Given the description of an element on the screen output the (x, y) to click on. 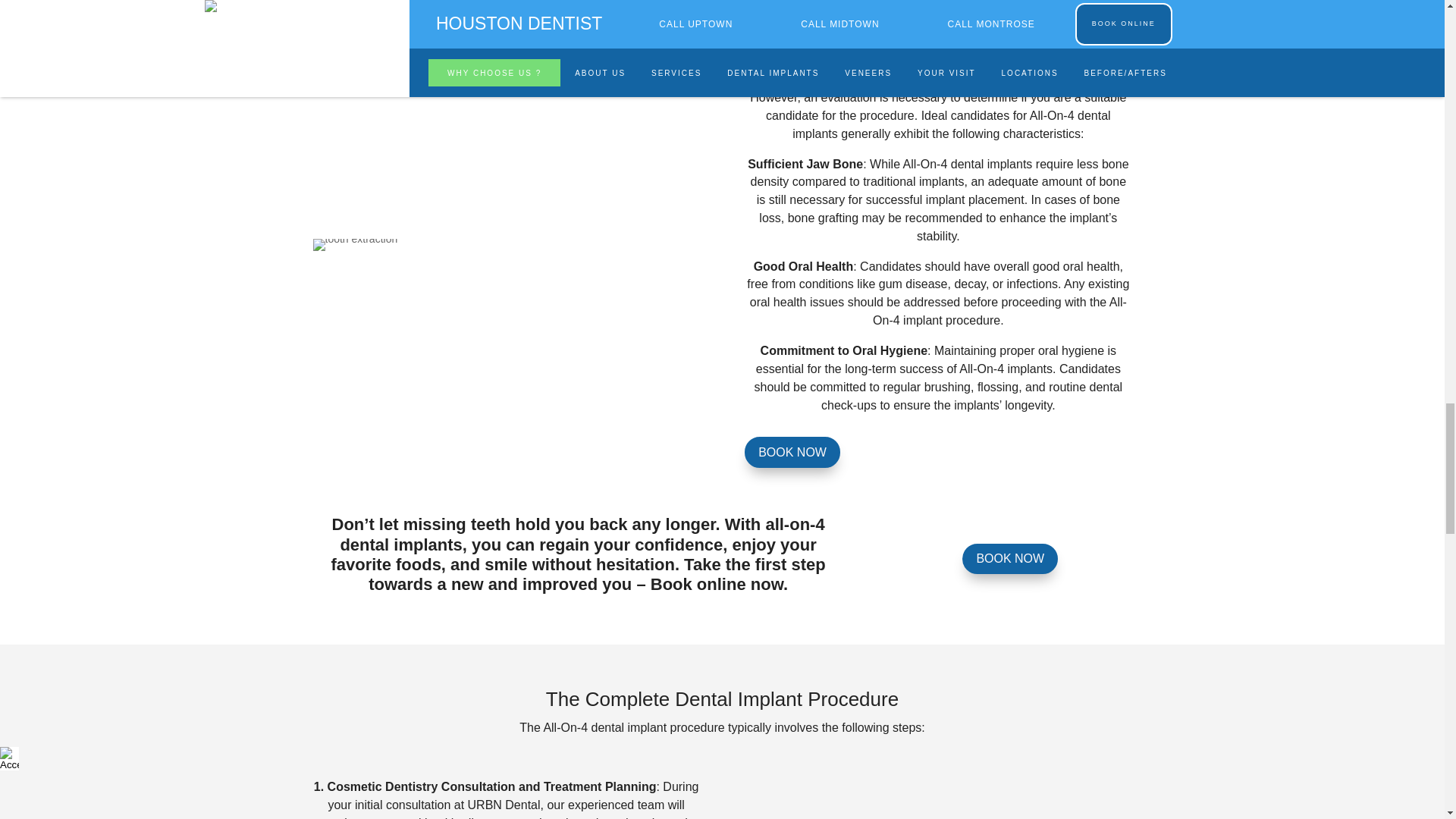
partial-dental-implants (355, 244)
